Given the description of an element on the screen output the (x, y) to click on. 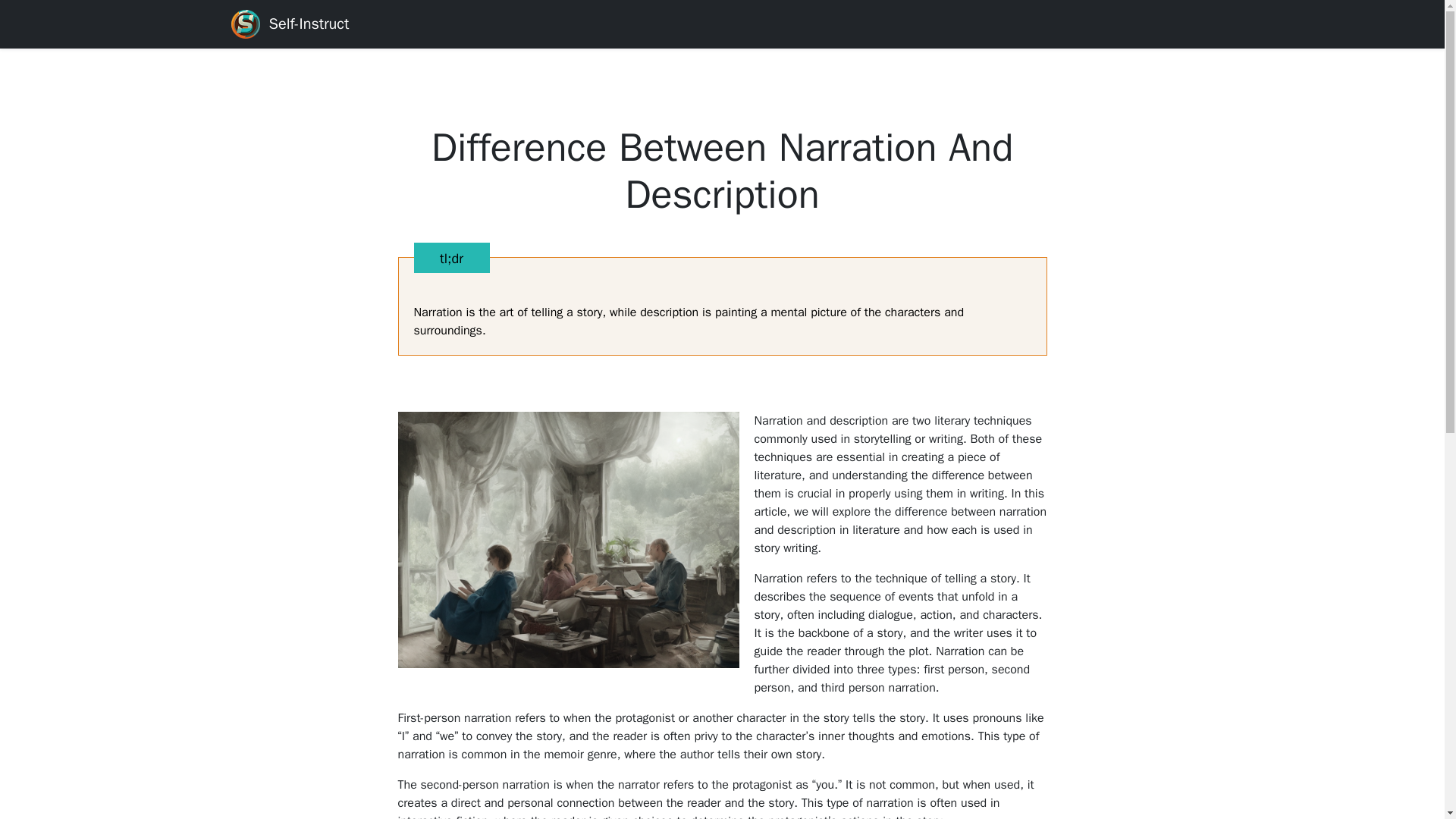
Self-Instruct (289, 23)
